Given the description of an element on the screen output the (x, y) to click on. 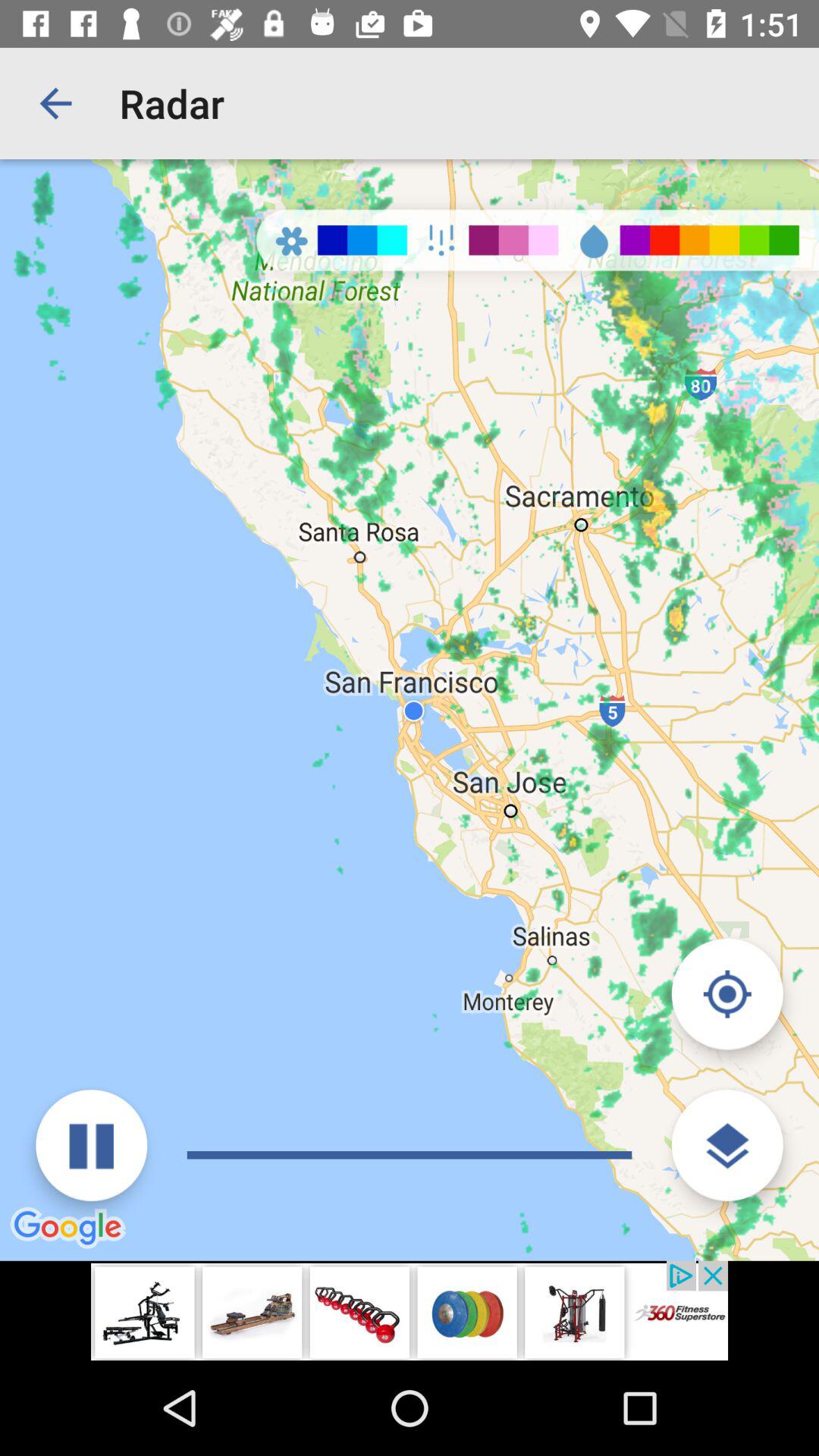
play video (91, 1145)
